Given the description of an element on the screen output the (x, y) to click on. 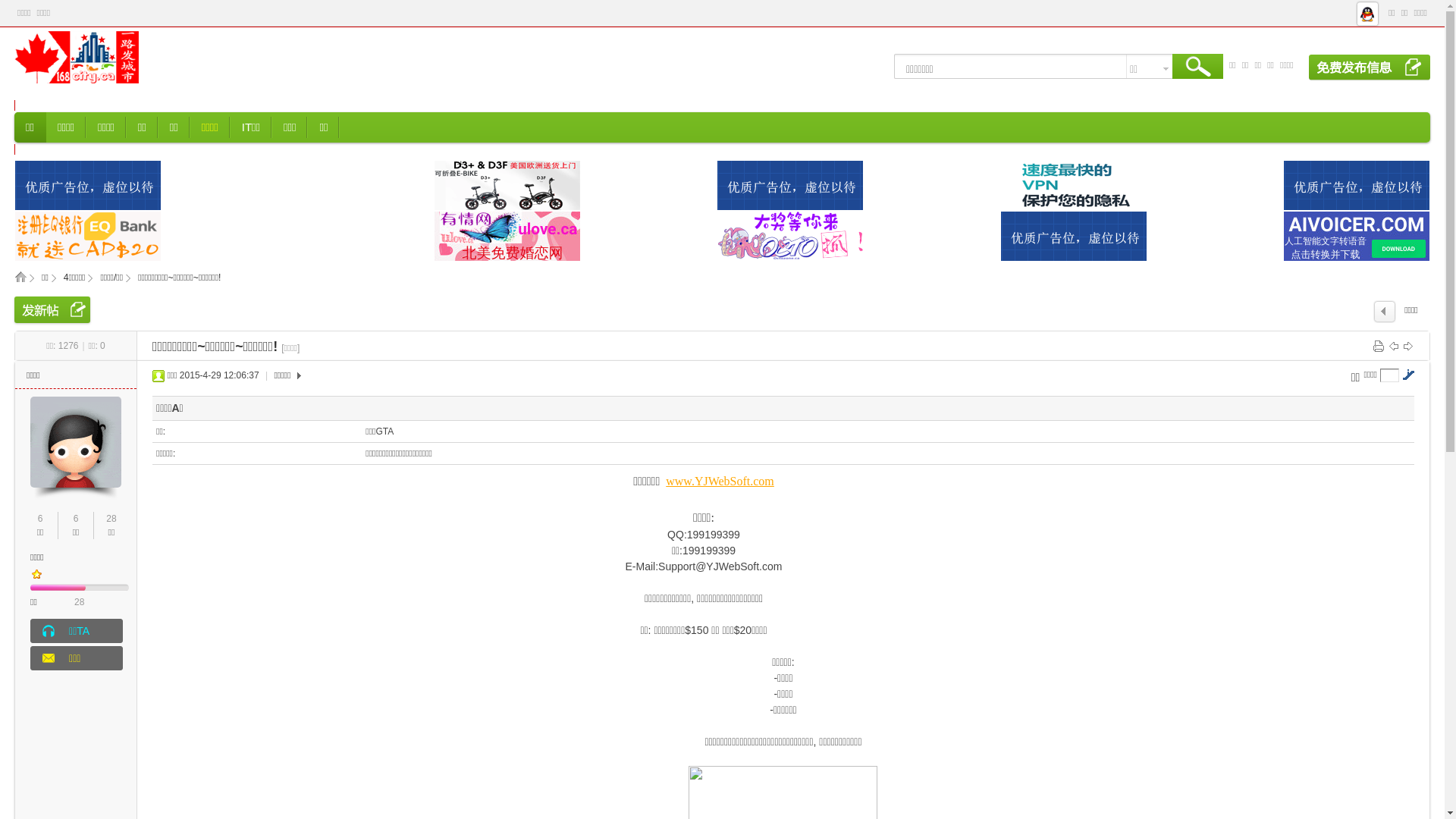
www.YJWebSoft.com Element type: text (719, 480)
6 Element type: text (40, 518)
28 Element type: text (79, 601)
28 Element type: text (111, 518)
Advertisement Element type: hover (1338, 548)
true Element type: text (1197, 68)
6 Element type: text (75, 518)
